Given the description of an element on the screen output the (x, y) to click on. 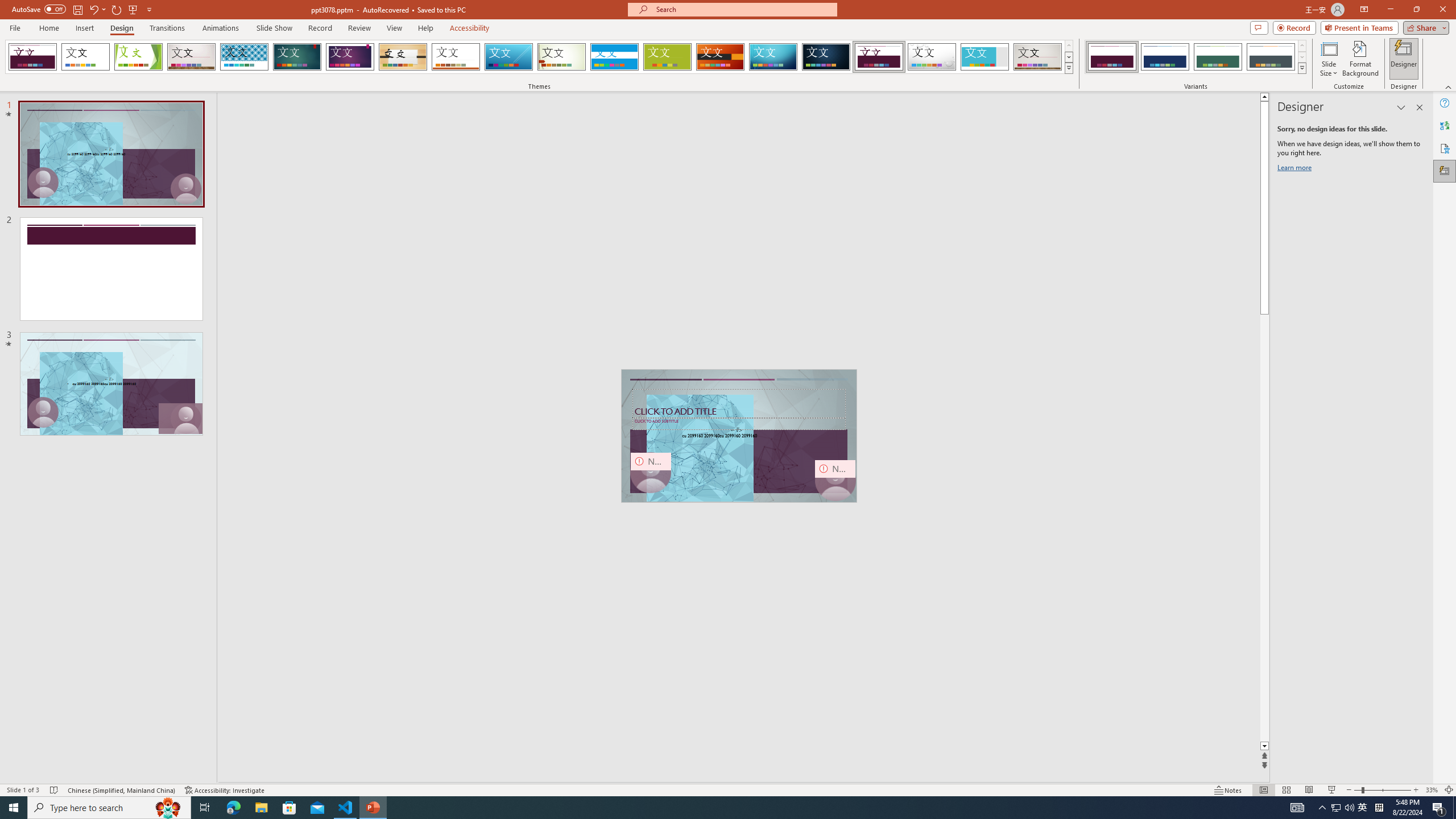
Undo (92, 9)
Dividend Variant 4 (1270, 56)
TextBox 7 (736, 430)
Zoom In (1415, 790)
Ion (296, 56)
Task Pane Options (1400, 107)
Normal (1263, 790)
Animations (220, 28)
Ion Boardroom (350, 56)
Designer (1444, 170)
System (6, 6)
System (6, 6)
Camera 16, No camera detected. (834, 479)
Home (48, 28)
Format Background (1360, 58)
